Given the description of an element on the screen output the (x, y) to click on. 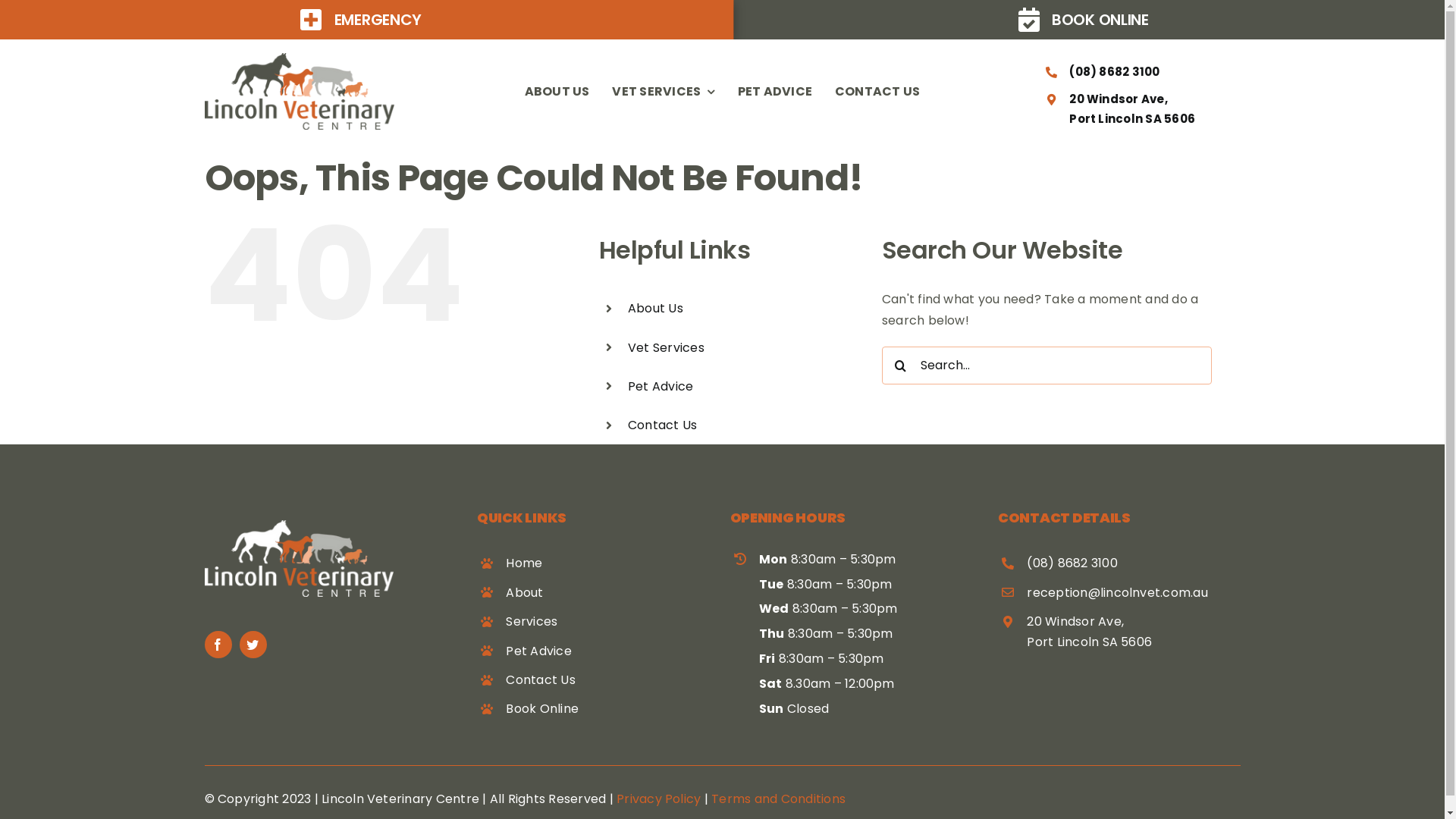
PET ADVICE Element type: text (774, 91)
Pet Advice Element type: text (660, 386)
ABOUT US Element type: text (556, 91)
About Element type: text (523, 592)
(08) 8682 3100 Element type: text (1071, 562)
Home Element type: text (523, 562)
CONTACT US Element type: text (876, 91)
reception@lincolnvet.com.au Element type: text (1116, 592)
About Us Element type: text (655, 307)
Pet Advice Element type: text (538, 650)
(08) 8682 3100 Element type: text (1114, 71)
Terms and Conditions Element type: text (778, 798)
Services Element type: text (531, 621)
VET SERVICES Element type: text (662, 91)
Contact Us Element type: text (539, 679)
Lincoln_Veterinary_Centre_Logo_white Element type: hover (299, 558)
Vet Services Element type: text (665, 347)
Privacy Policy Element type: text (658, 798)
Book Online Element type: text (541, 708)
20 Windsor Ave,
Port Lincoln SA 5606 Element type: text (1088, 631)
Contact Us Element type: text (661, 424)
20 Windsor Ave,
Port Lincoln SA 5606 Element type: text (1132, 108)
